Given the description of an element on the screen output the (x, y) to click on. 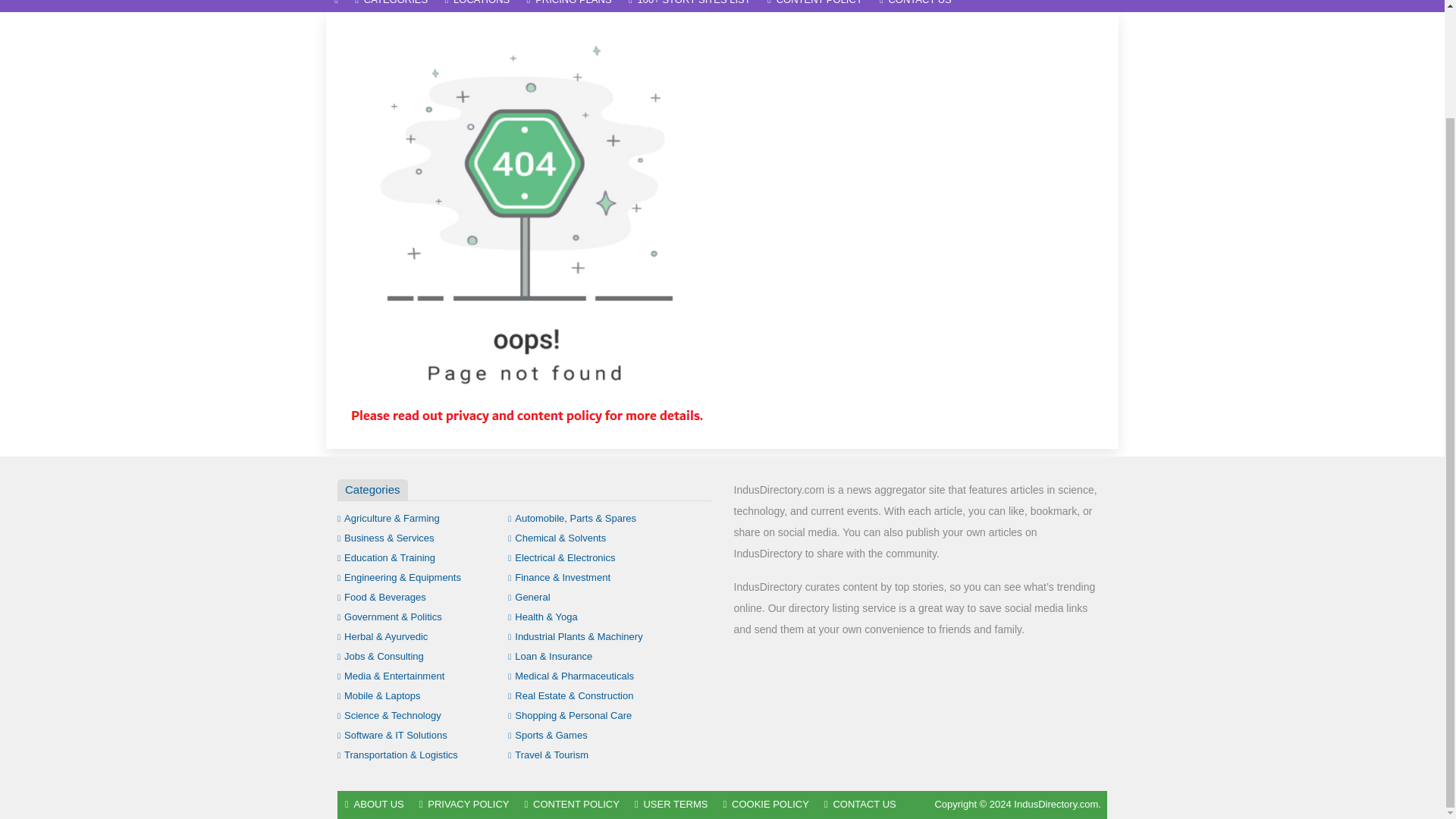
CATEGORIES (390, 6)
PRICING PLANS (569, 6)
CONTENT POLICY (814, 6)
General (529, 596)
HOME (336, 6)
LOCATIONS (476, 6)
CONTACT US (914, 6)
